Given the description of an element on the screen output the (x, y) to click on. 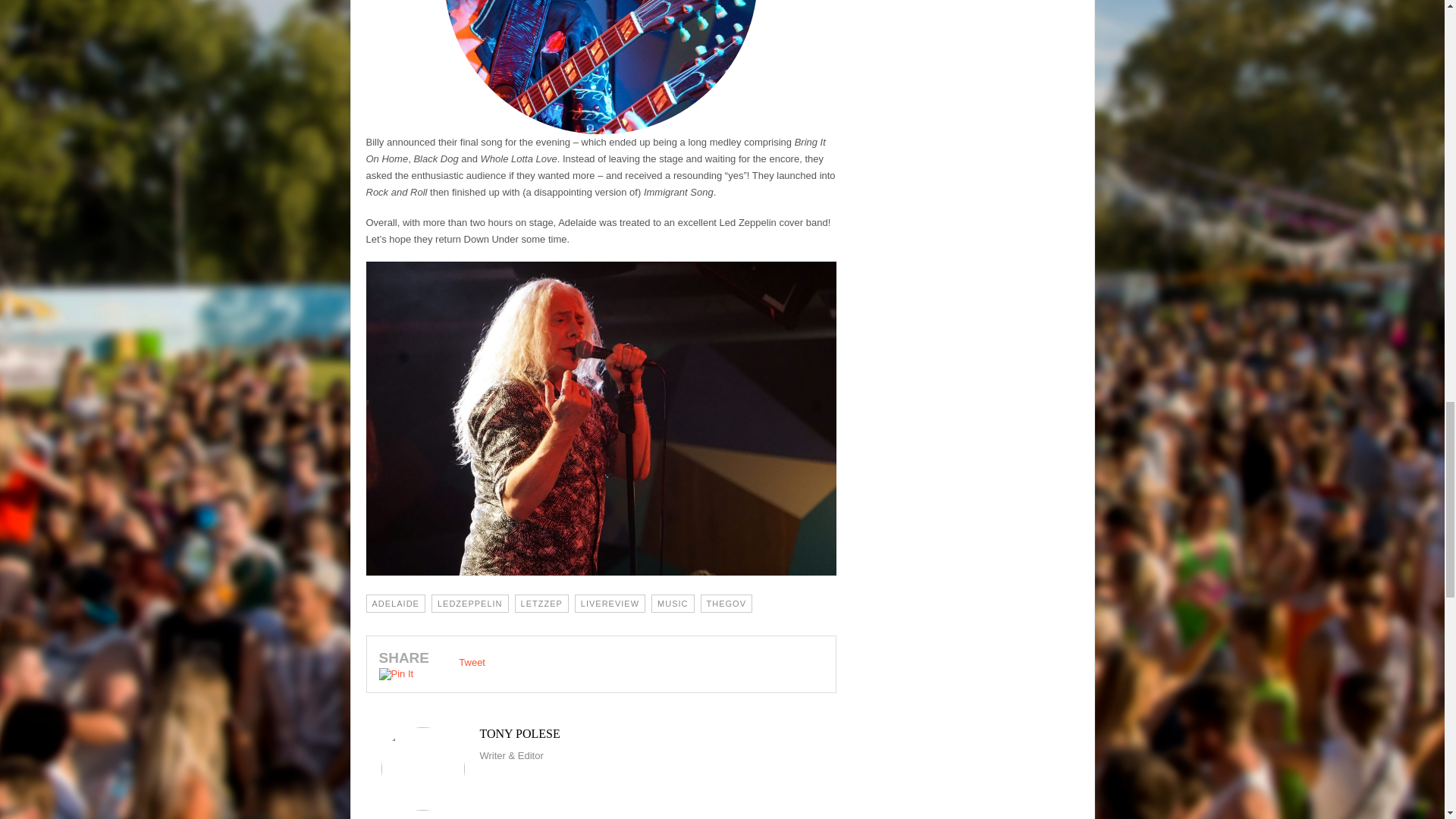
LEDZEPPELIN (469, 603)
LIVEREVIEW (610, 603)
LETZZEP (542, 603)
THEGOV (726, 603)
MUSIC (672, 603)
ADELAIDE (395, 603)
Tweet (471, 662)
Pin It (395, 674)
Posts by Tony Polese (600, 734)
